Given the description of an element on the screen output the (x, y) to click on. 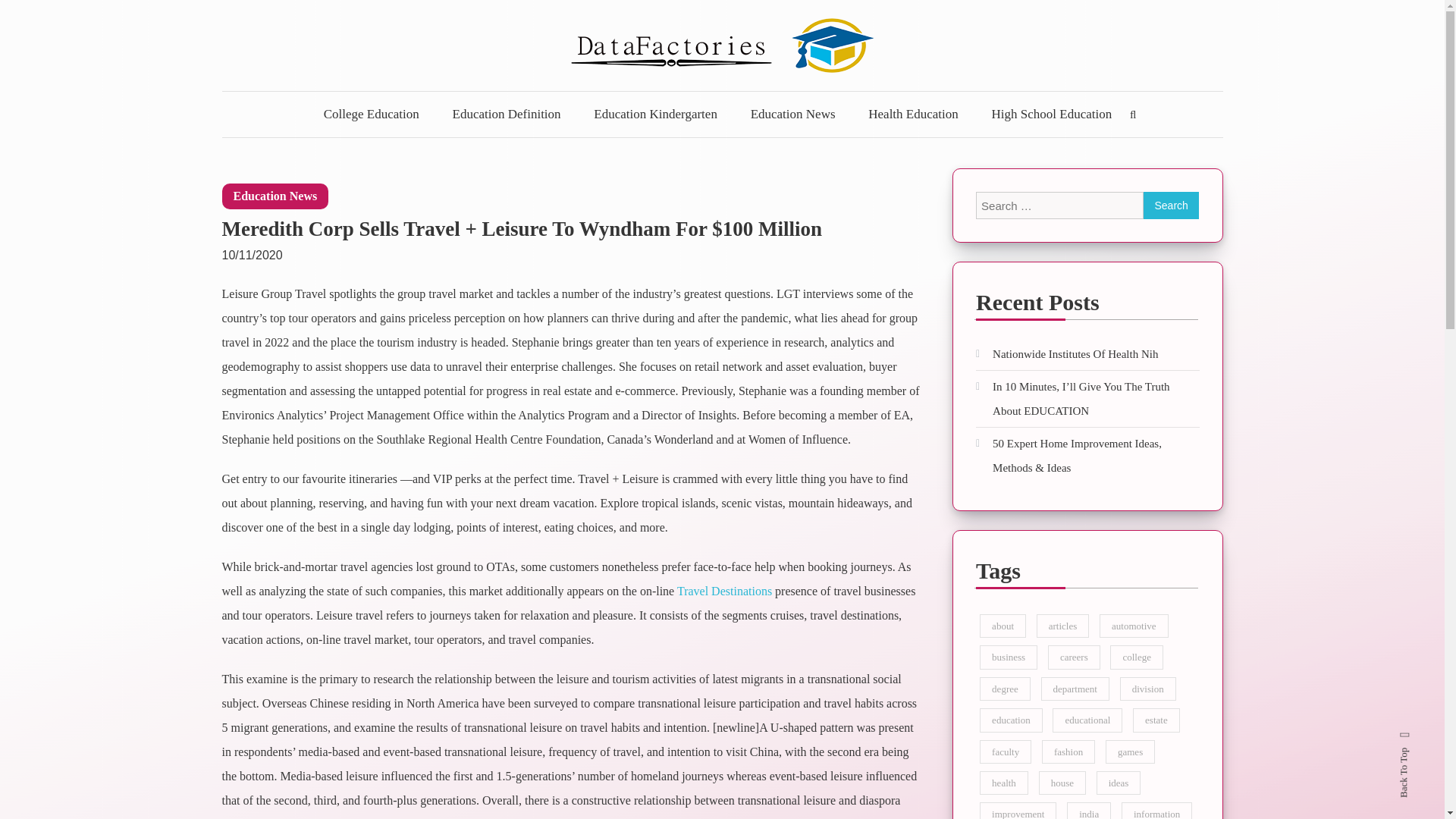
business (1007, 657)
Search (768, 432)
college (1136, 657)
careers (1074, 657)
Education News (275, 196)
department (1074, 689)
Search (1170, 205)
about (1002, 626)
DF (247, 100)
College Education (370, 114)
